Given the description of an element on the screen output the (x, y) to click on. 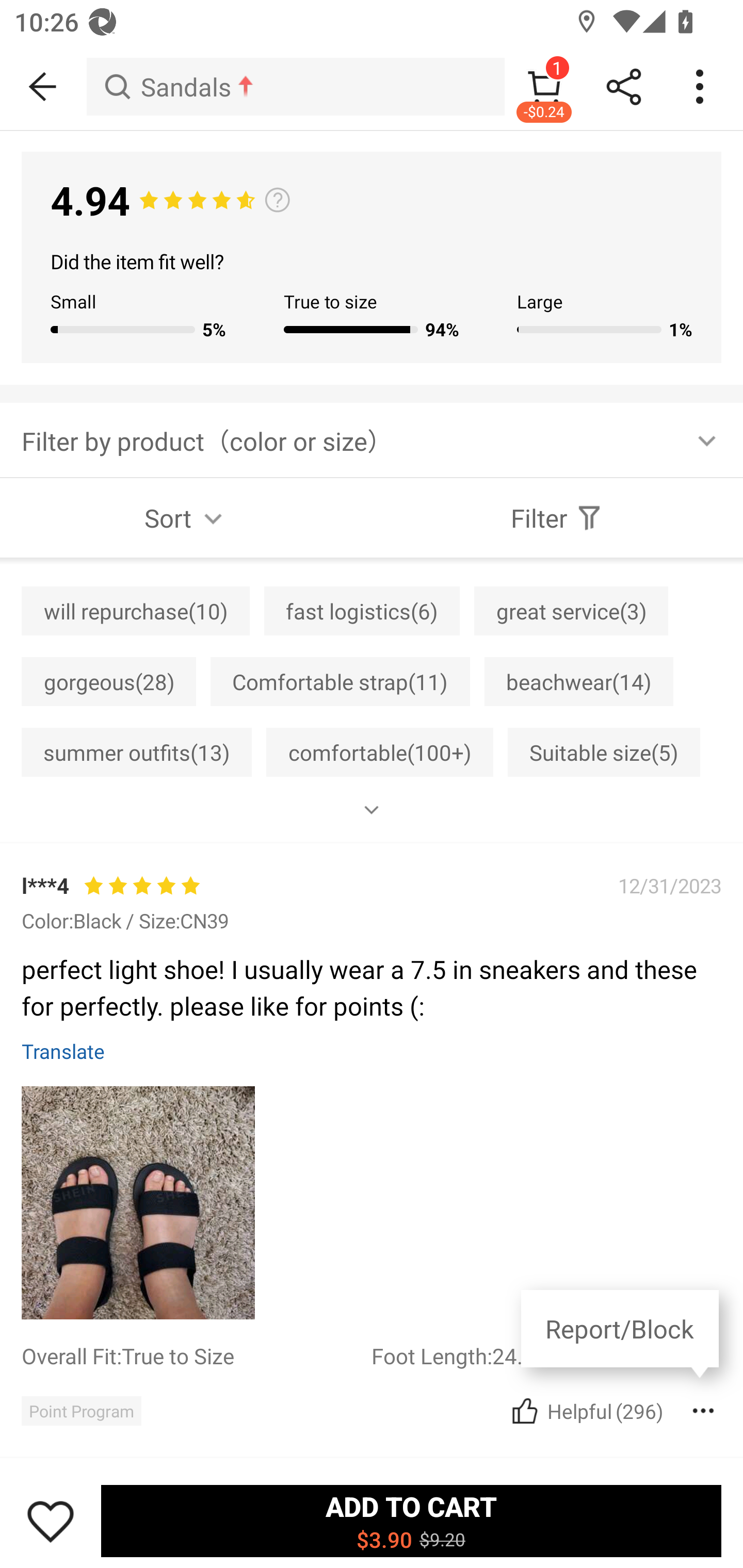
Report/Block (619, 1334)
